Given the description of an element on the screen output the (x, y) to click on. 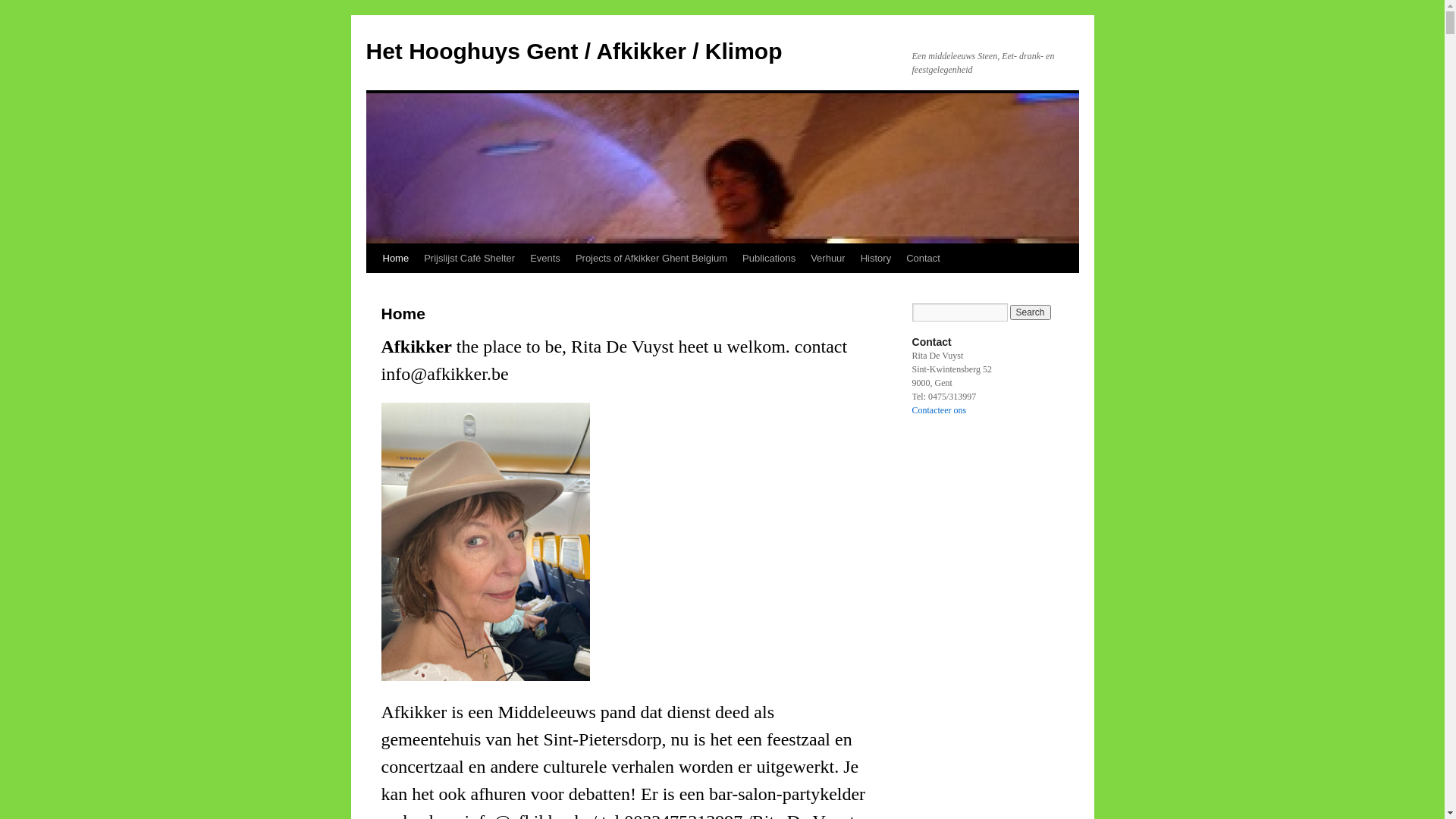
Search Element type: text (1030, 312)
Contacteer ons Element type: text (938, 409)
Projects of Afkikker Ghent Belgium Element type: text (650, 258)
History Element type: text (875, 258)
Home Element type: text (395, 258)
Publications Element type: text (768, 258)
Het Hooghuys Gent / Afkikker / Klimop Element type: text (573, 50)
Verhuur Element type: text (828, 258)
Events Element type: text (544, 258)
Contact Element type: text (922, 258)
